Given the description of an element on the screen output the (x, y) to click on. 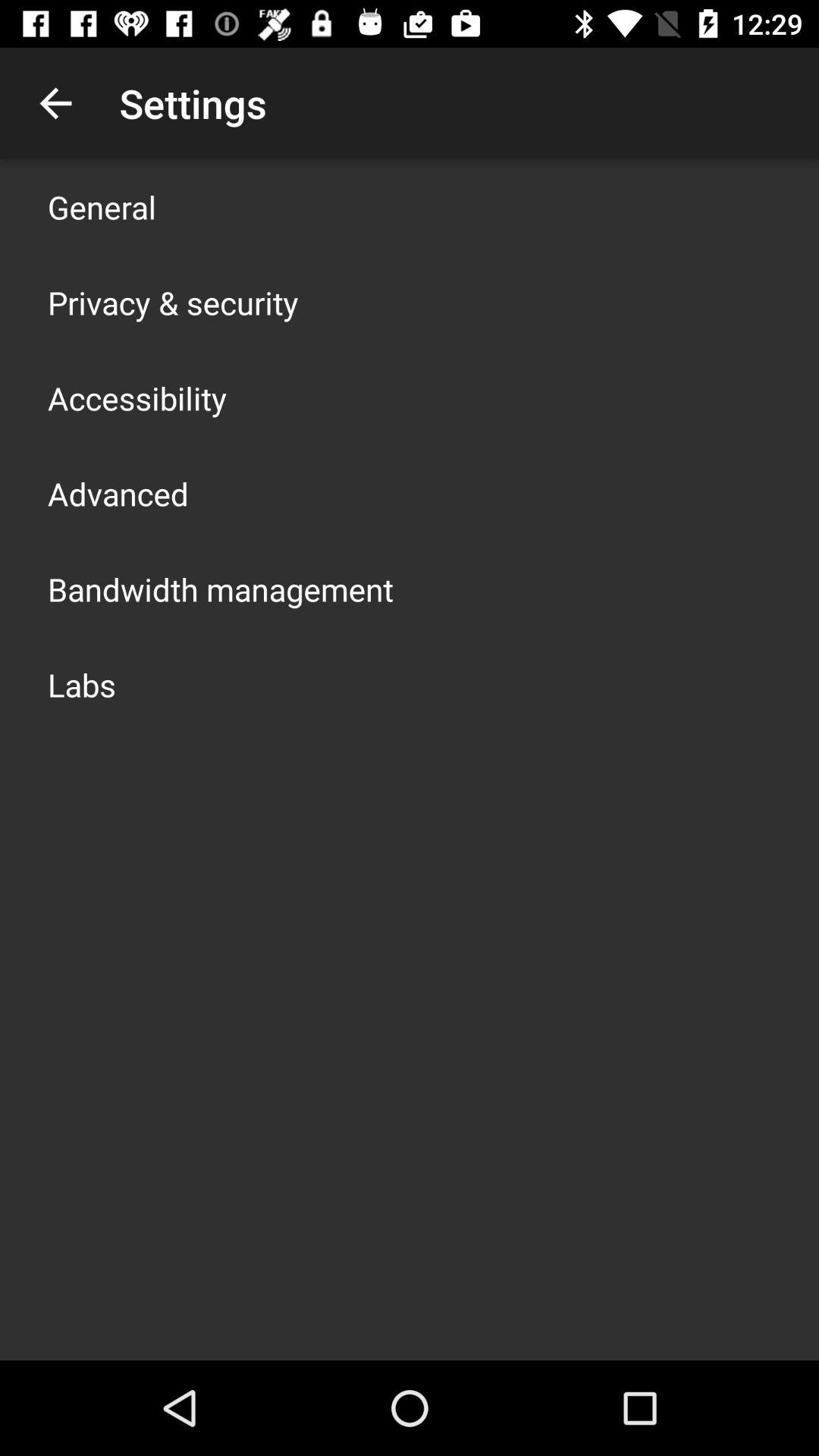
launch the item next to the settings icon (55, 103)
